Given the description of an element on the screen output the (x, y) to click on. 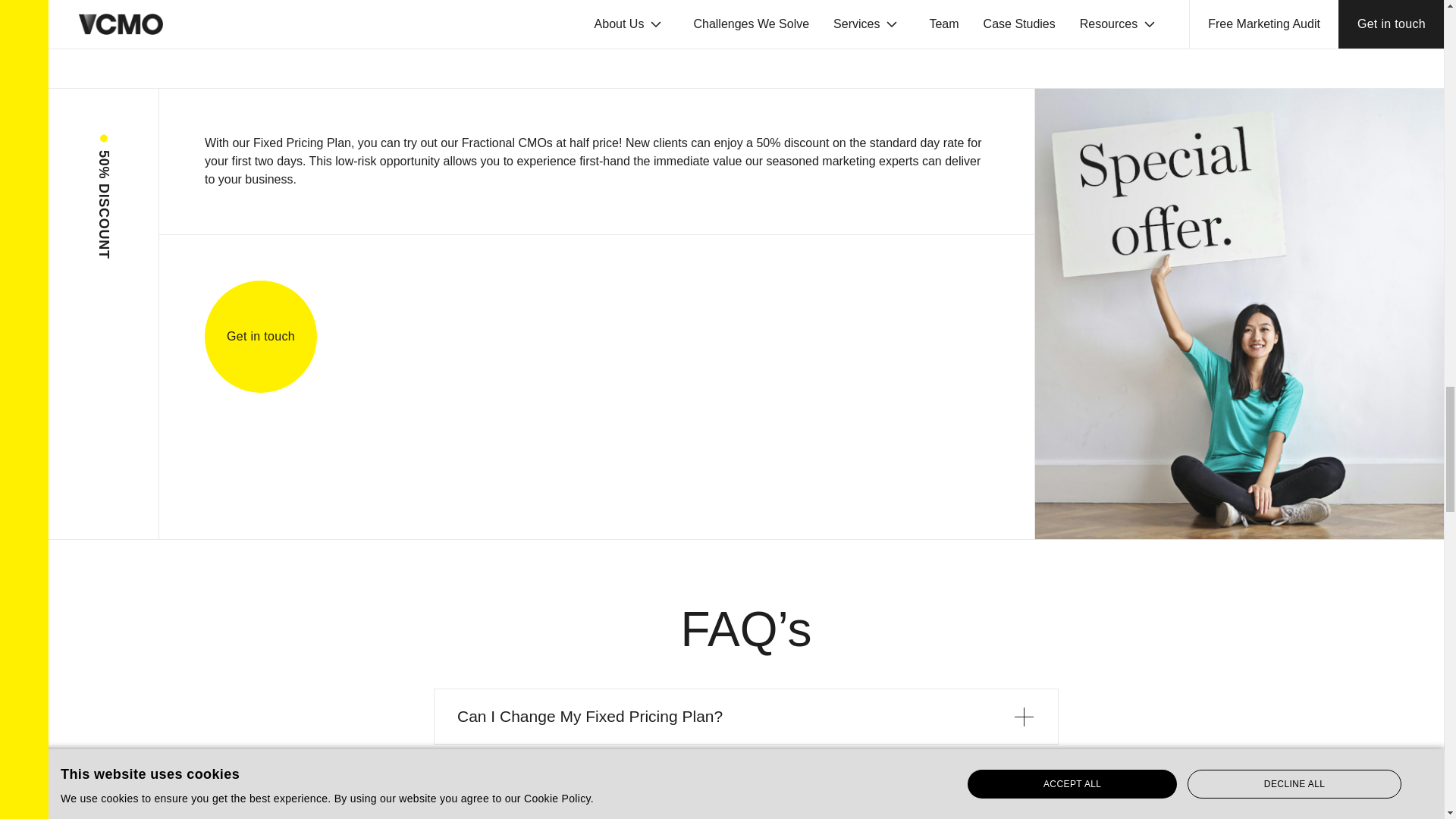
Get in touch (261, 336)
